Given the description of an element on the screen output the (x, y) to click on. 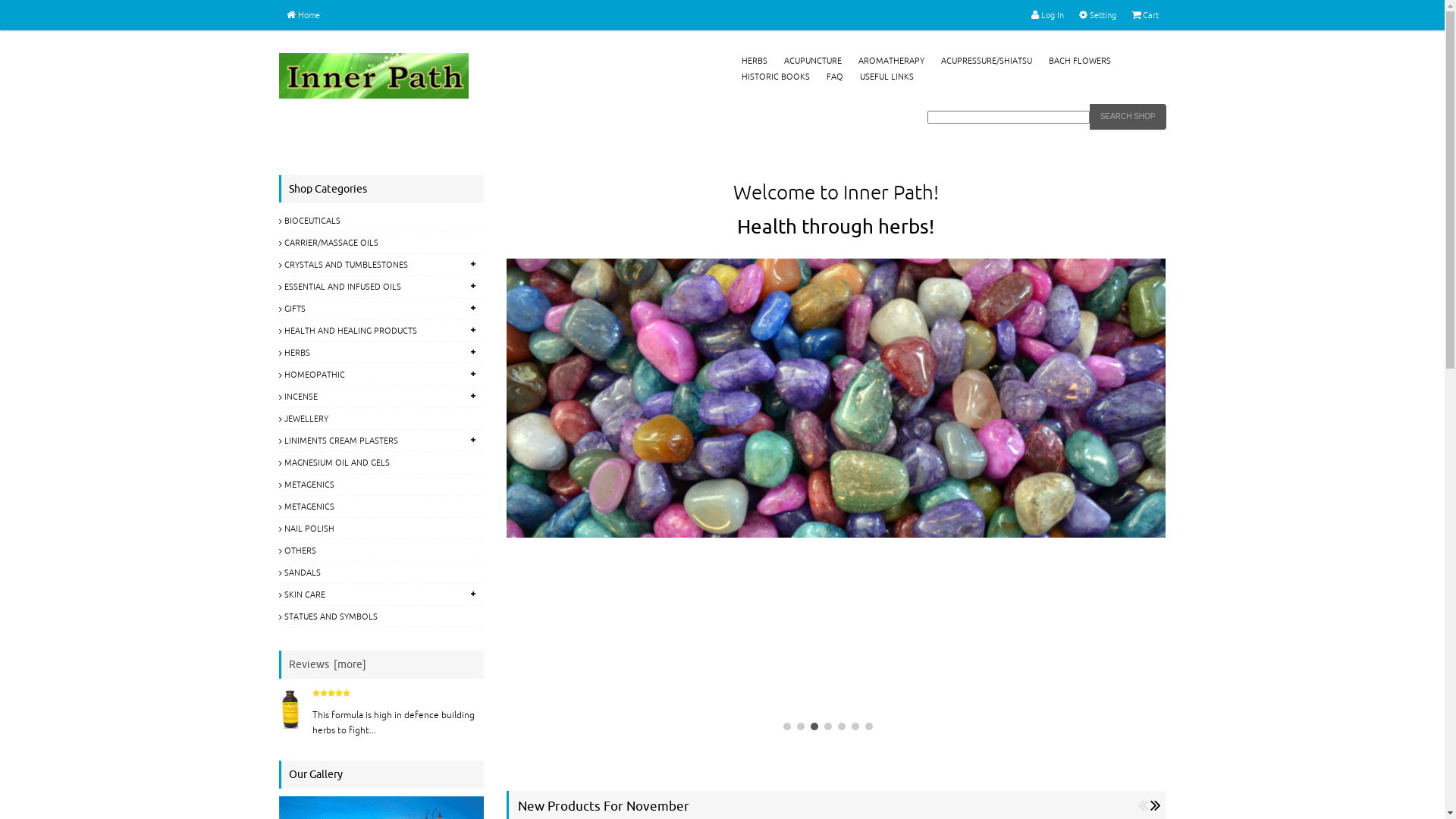
LINIMENTS CREAM PLASTERS Element type: text (381, 440)
HERBS Element type: text (381, 353)
NAIL POLISH Element type: text (381, 528)
SANDALS Element type: text (381, 572)
INCENSE Element type: text (381, 396)
CRYSTALS AND TUMBLESTONES Element type: text (381, 265)
Cart Element type: text (1144, 15)
ESSENTIAL AND INFUSED OILS Element type: text (381, 287)
METAGENICS Element type: text (381, 484)
ACUPUNCTURE Element type: text (812, 60)
MAGNESIUM OIL AND GELS Element type: text (381, 462)
SEARCH SHOP Element type: text (1127, 116)
 Cold & Flu Mix 200 ml  Element type: hover (291, 707)
6 Element type: text (855, 726)
SKIN CARE Element type: text (381, 594)
HOMEOPATHIC Element type: text (381, 374)
BIOCEUTICALS Element type: text (381, 221)
GIFTS Element type: text (381, 309)
Reviews  [more] Element type: text (326, 664)
JEWELLERY Element type: text (381, 418)
1 Element type: text (786, 726)
AROMATHERAPY Element type: text (891, 60)
Setting Element type: text (1096, 15)
5 Element type: text (841, 726)
OTHERS Element type: text (381, 550)
Home Element type: text (303, 15)
HISTORIC BOOKS Element type: text (775, 76)
ACUPRESSURE/SHIATSU Element type: text (985, 60)
HERBS Element type: text (754, 60)
2 Element type: text (800, 726)
USEFUL LINKS Element type: text (886, 76)
STATUES AND SYMBOLS Element type: text (381, 616)
METAGENICS Element type: text (381, 506)
BACH FLOWERS Element type: text (1078, 60)
Log In Element type: text (1047, 15)
4 Element type: text (827, 726)
CARRIER/MASSAGE OILS Element type: text (381, 243)
7 Element type: text (868, 726)
HEALTH AND HEALING PRODUCTS Element type: text (381, 331)
 Powered by Zen Cart :: The Art of E-Commerce  Element type: hover (373, 75)
FAQ Element type: text (834, 76)
3 Element type: text (814, 726)
